Given the description of an element on the screen output the (x, y) to click on. 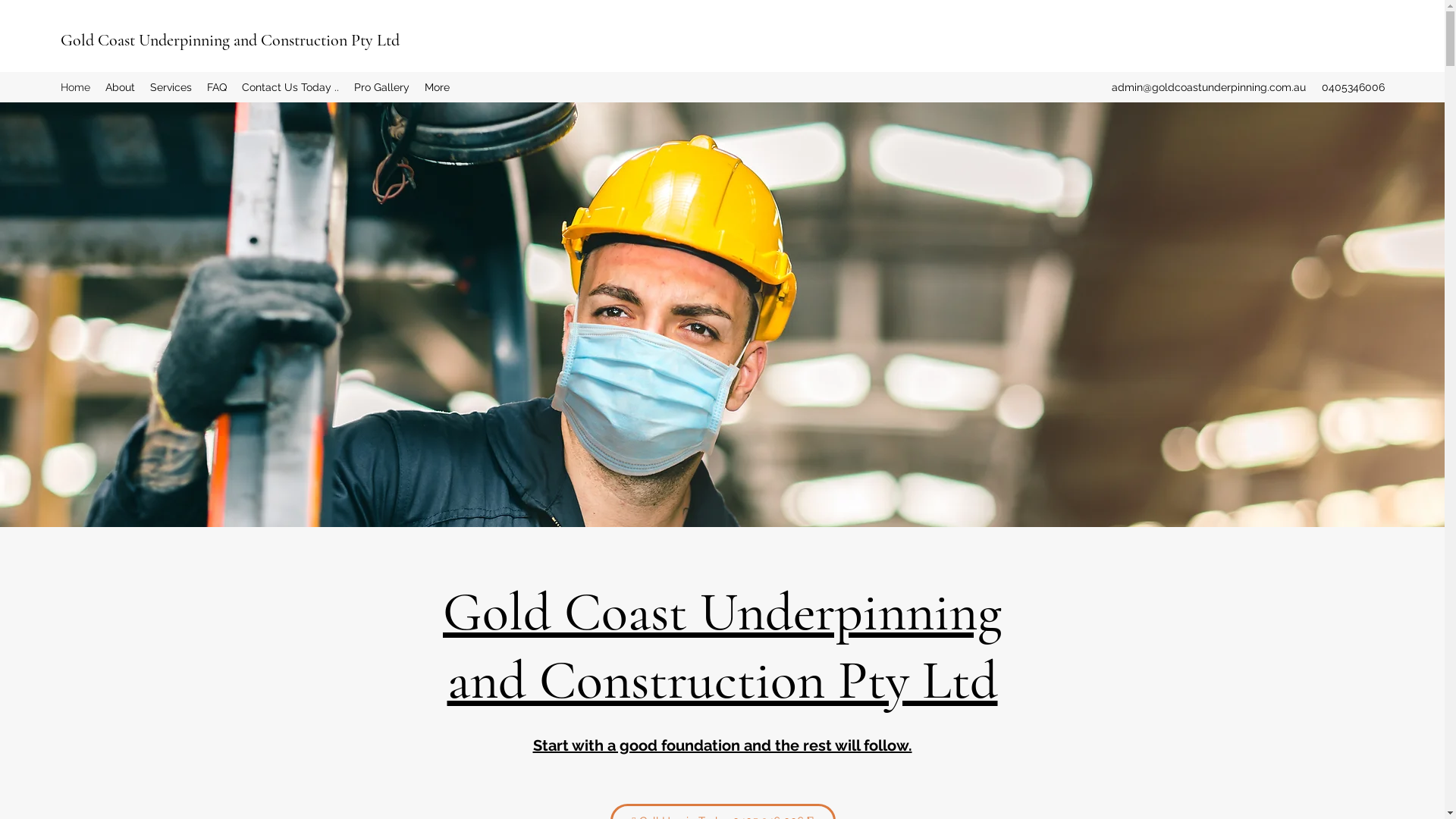
Contact Us Today .. Element type: text (290, 86)
Home Element type: text (75, 86)
admin@goldcoastunderpinning.com.au Element type: text (1208, 87)
Services Element type: text (170, 86)
FAQ Element type: text (216, 86)
About Element type: text (119, 86)
Gold Coast Underpinning and Construction Pty Ltd Element type: text (721, 645)
Pro Gallery Element type: text (381, 86)
Start with a good foundation and the rest will follow. Element type: text (721, 745)
